Given the description of an element on the screen output the (x, y) to click on. 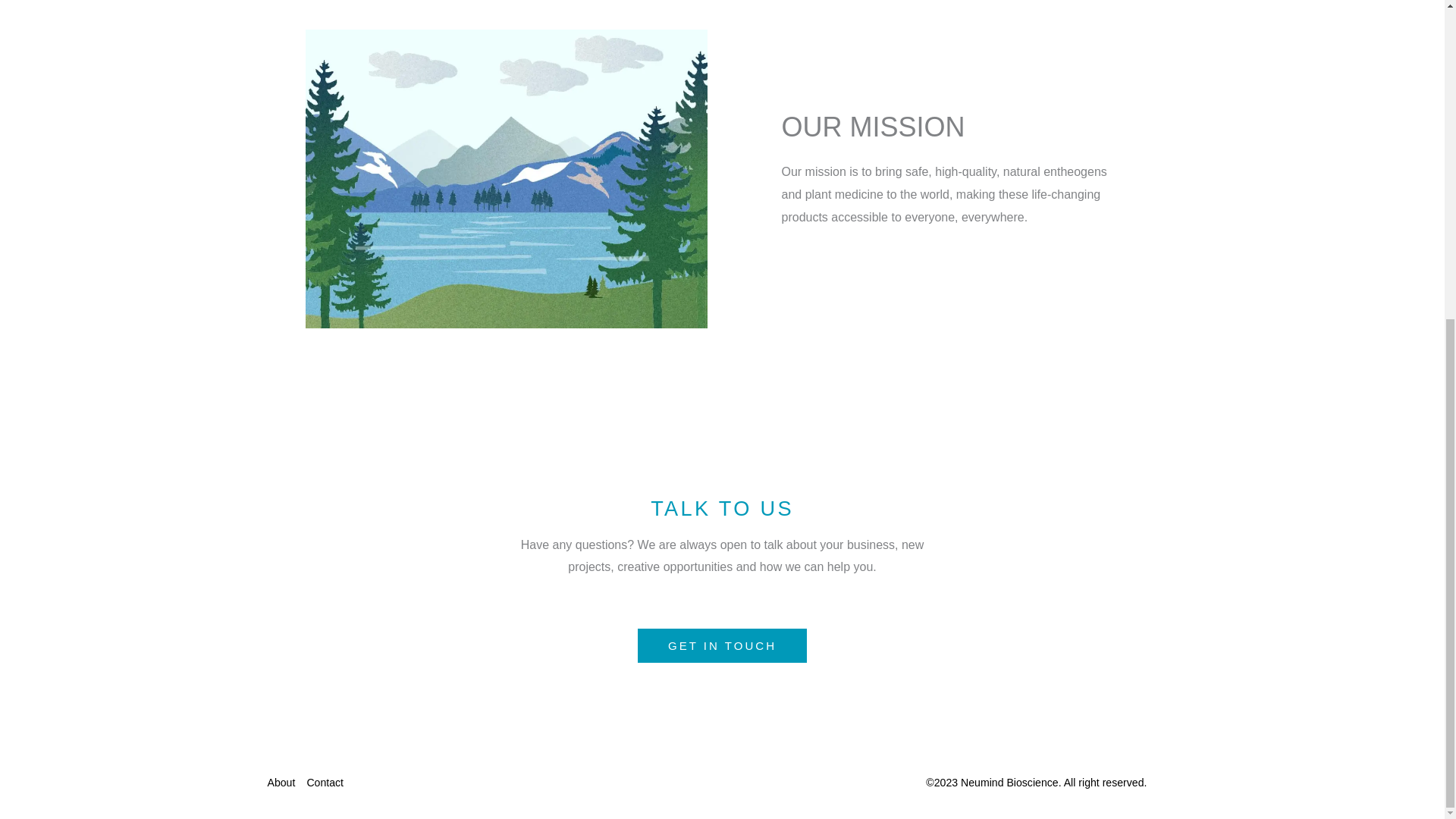
GET IN TOUCH (721, 645)
Contact (330, 782)
About (285, 782)
